Given the description of an element on the screen output the (x, y) to click on. 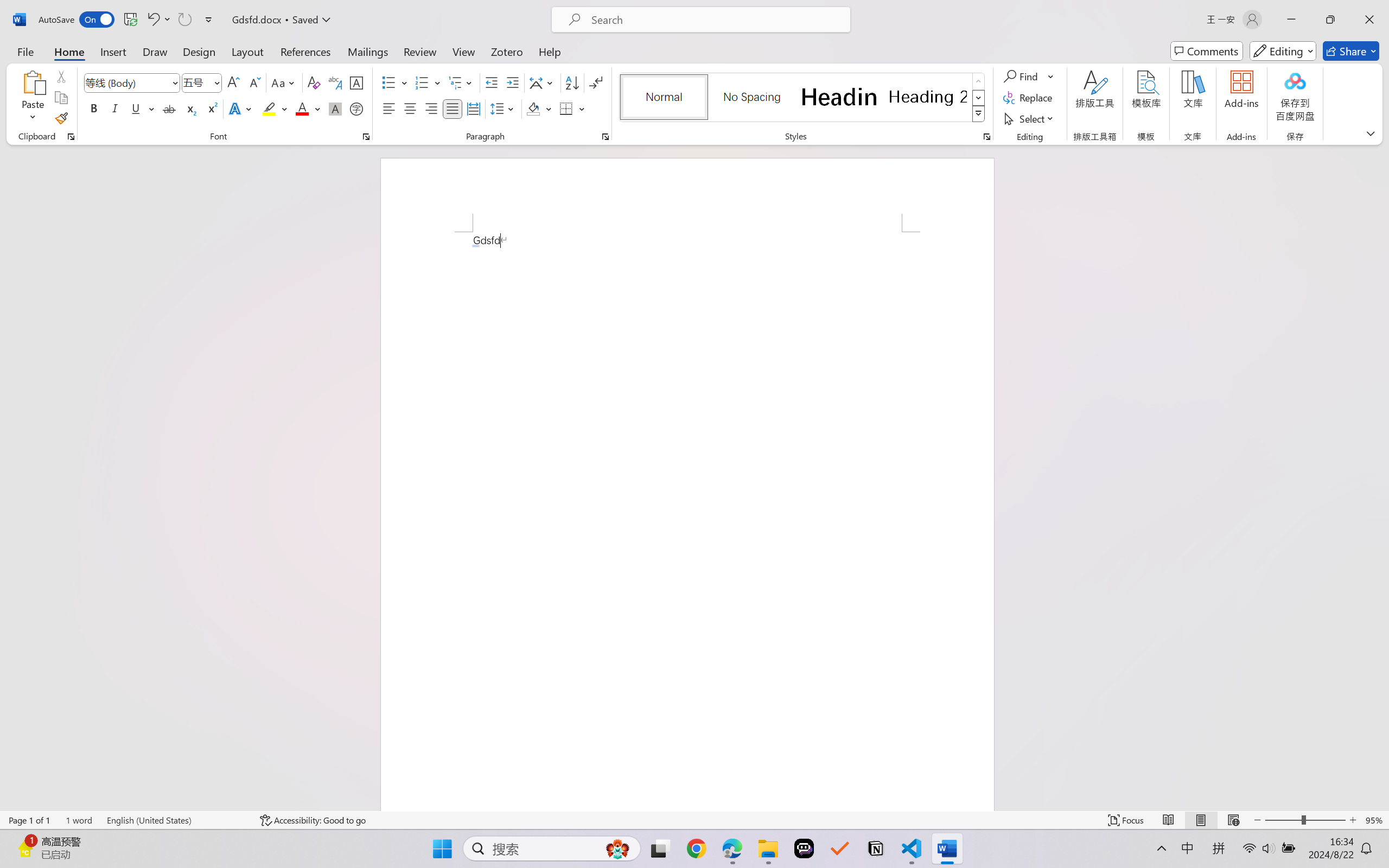
Asian Layout (542, 82)
Align Left (388, 108)
Character Shading (334, 108)
Action: Undo Auto Actions (475, 245)
Center (409, 108)
Class: NetUIScrollBar (1382, 477)
Shading RGB(0, 0, 0) (533, 108)
Row up (978, 81)
Shrink Font (253, 82)
Paragraph... (605, 136)
Cut (60, 75)
